Given the description of an element on the screen output the (x, y) to click on. 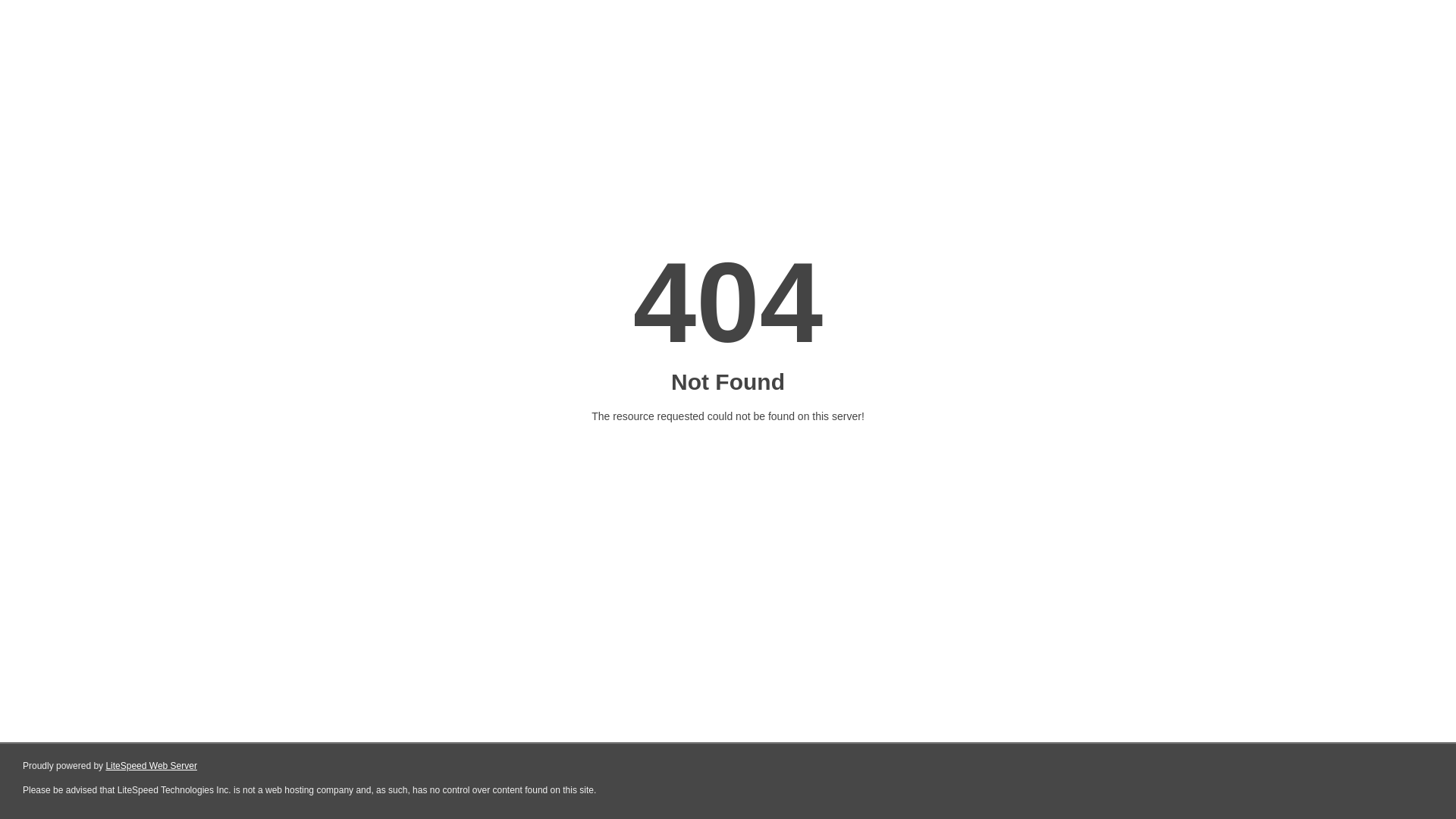
LiteSpeed Web Server Element type: text (151, 765)
